Given the description of an element on the screen output the (x, y) to click on. 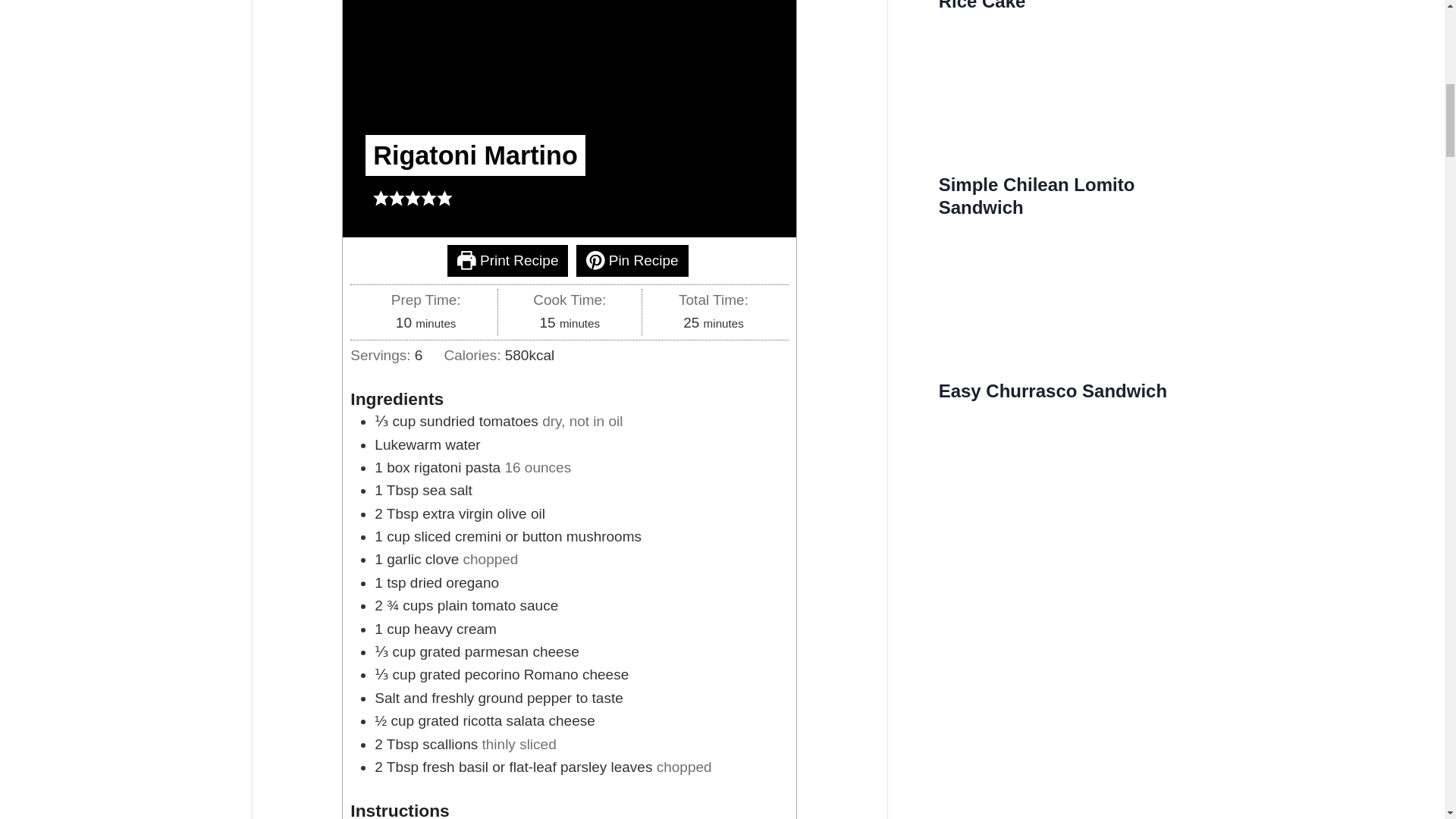
Print Recipe (506, 260)
Pin Recipe (632, 260)
